Given the description of an element on the screen output the (x, y) to click on. 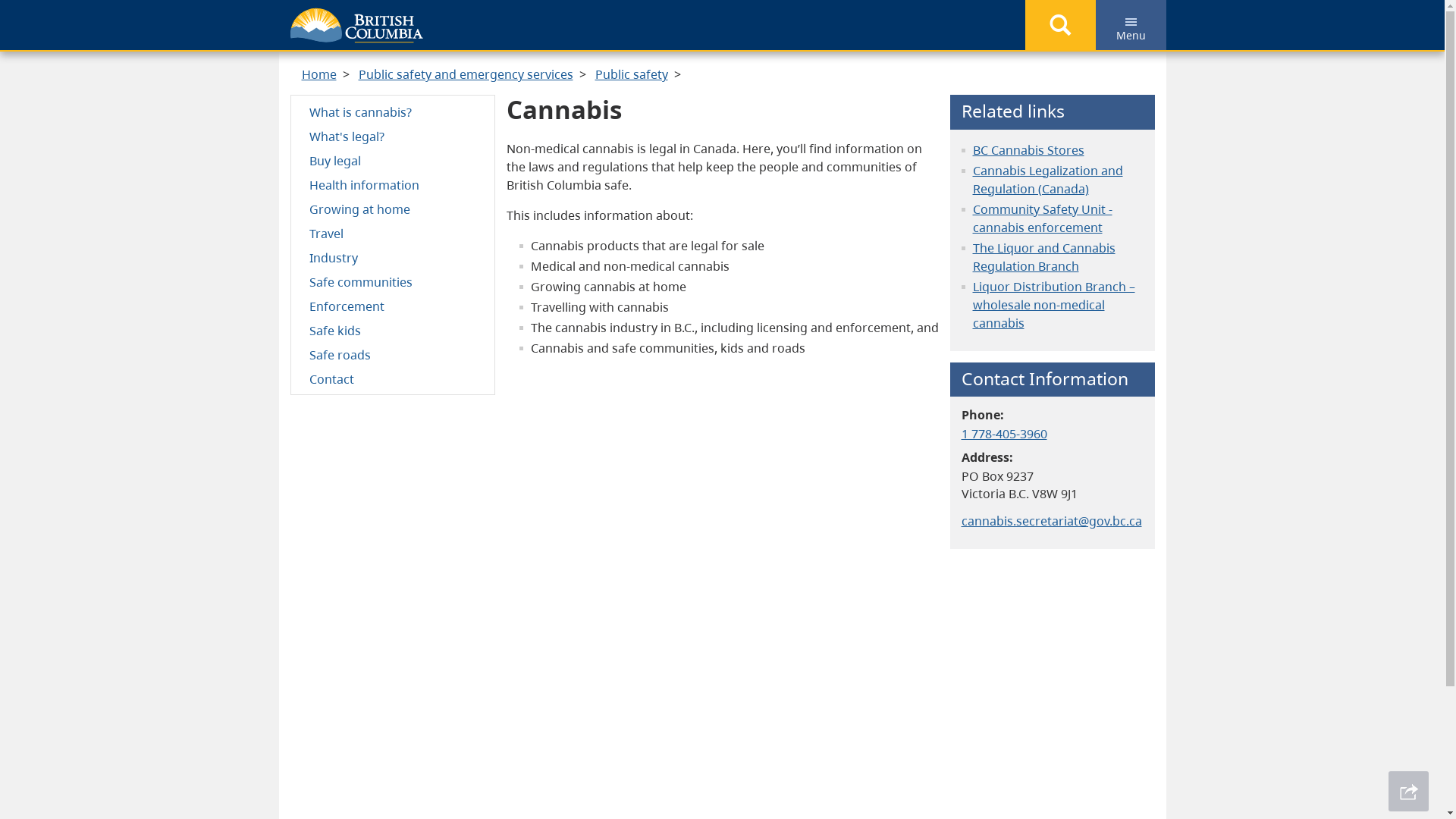
Home Element type: text (318, 73)
The Liquor and Cannabis Regulation Branch Element type: text (1043, 256)
Growing at home Element type: text (392, 208)
Share This Page Element type: hover (1408, 791)
1 778-405-3960 Element type: text (1004, 433)
BC Cannabis Stores Element type: text (1027, 149)
Public safety and emergency services Element type: text (464, 73)
Contact Element type: text (392, 378)
Travel Element type: text (392, 232)
Health information Element type: text (392, 183)
Industry Element type: text (392, 256)
Government of B.C. Element type: hover (355, 25)
Enforcement Element type: text (392, 305)
Cannabis Legalization and Regulation (Canada) Element type: text (1047, 179)
What's legal? Element type: text (392, 135)
What is cannabis? Element type: text (392, 111)
Buy legal Element type: text (392, 159)
Public safety Element type: text (630, 73)
Safe kids Element type: text (392, 329)
Safe communities Element type: text (392, 281)
Community Safety Unit - cannabis enforcement Element type: text (1041, 217)
Menu Element type: text (1130, 25)
cannabis.secretariat@gov.bc.ca Element type: text (1051, 520)
Safe roads Element type: text (392, 353)
